Given the description of an element on the screen output the (x, y) to click on. 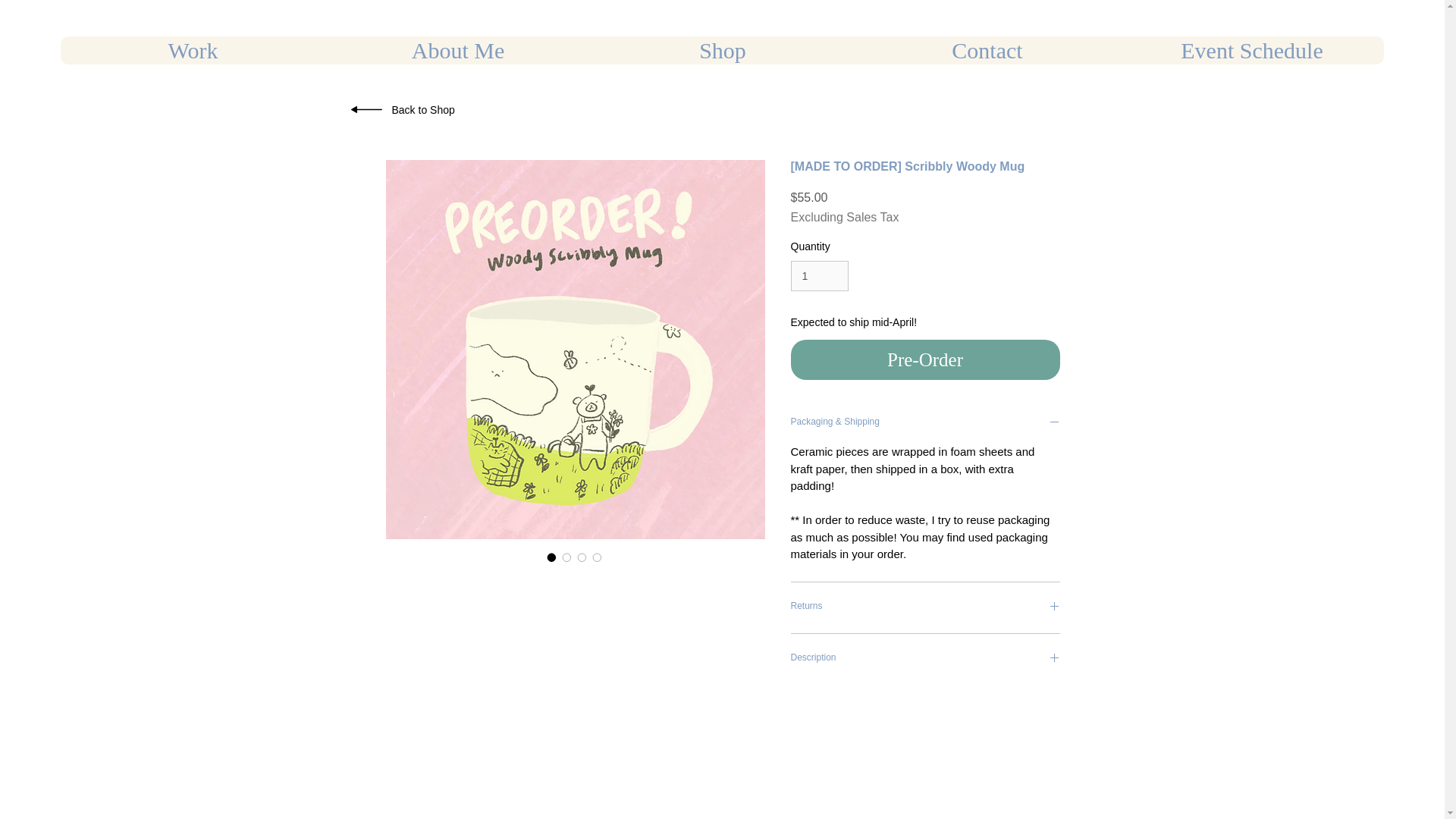
1 (818, 276)
Returns (924, 607)
Event Schedule (1251, 50)
Pre-Order (924, 359)
Description (924, 658)
Work (192, 50)
About Me (456, 50)
Contact (986, 50)
Shop (721, 50)
Back to Shop (422, 110)
